Given the description of an element on the screen output the (x, y) to click on. 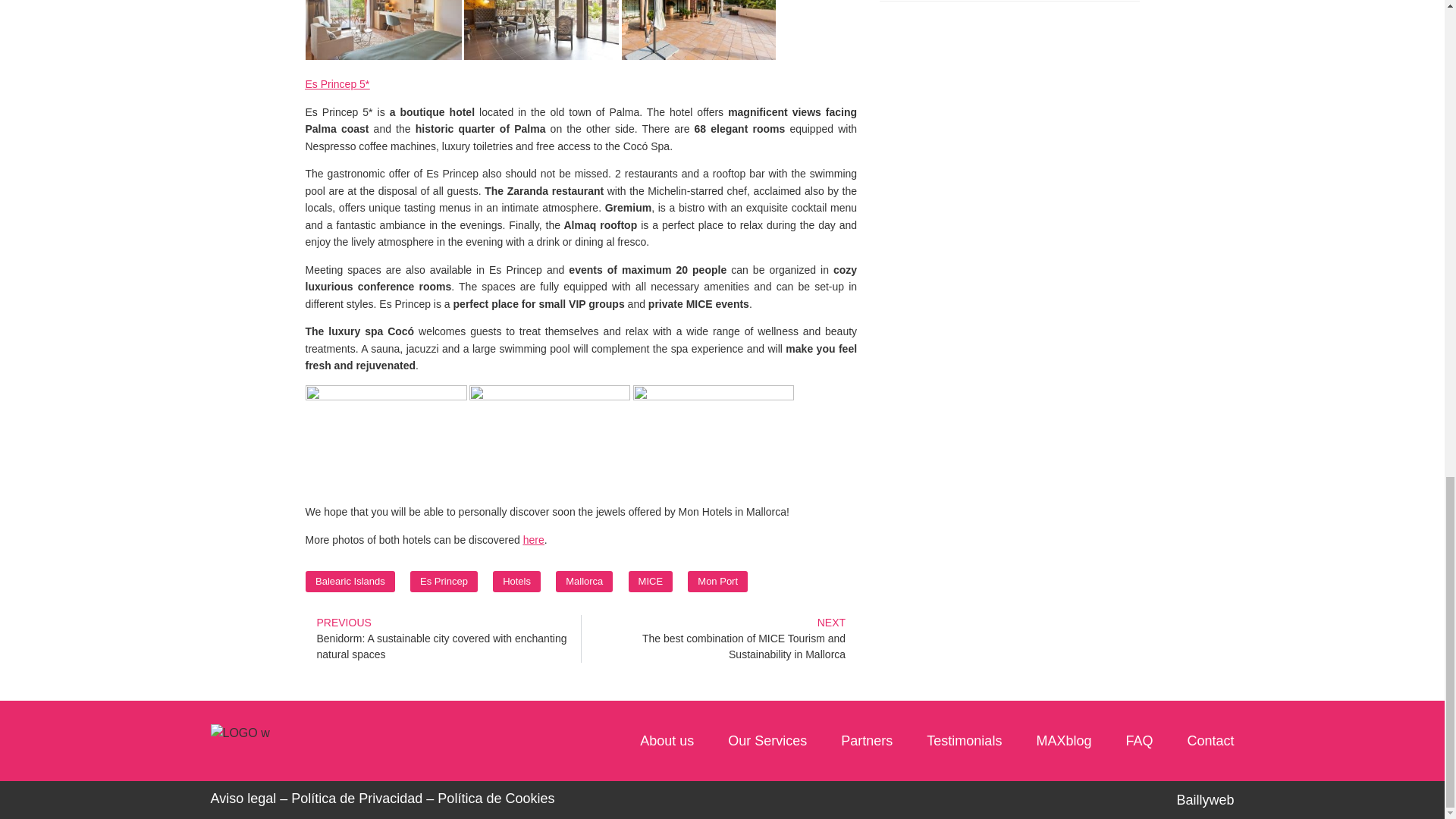
Mon Port (717, 581)
LOGO w (240, 732)
here (533, 539)
Mallorca (584, 581)
MICE (650, 581)
Es Princep (443, 581)
Balearic Islands (349, 581)
Hotels (516, 581)
